Given the description of an element on the screen output the (x, y) to click on. 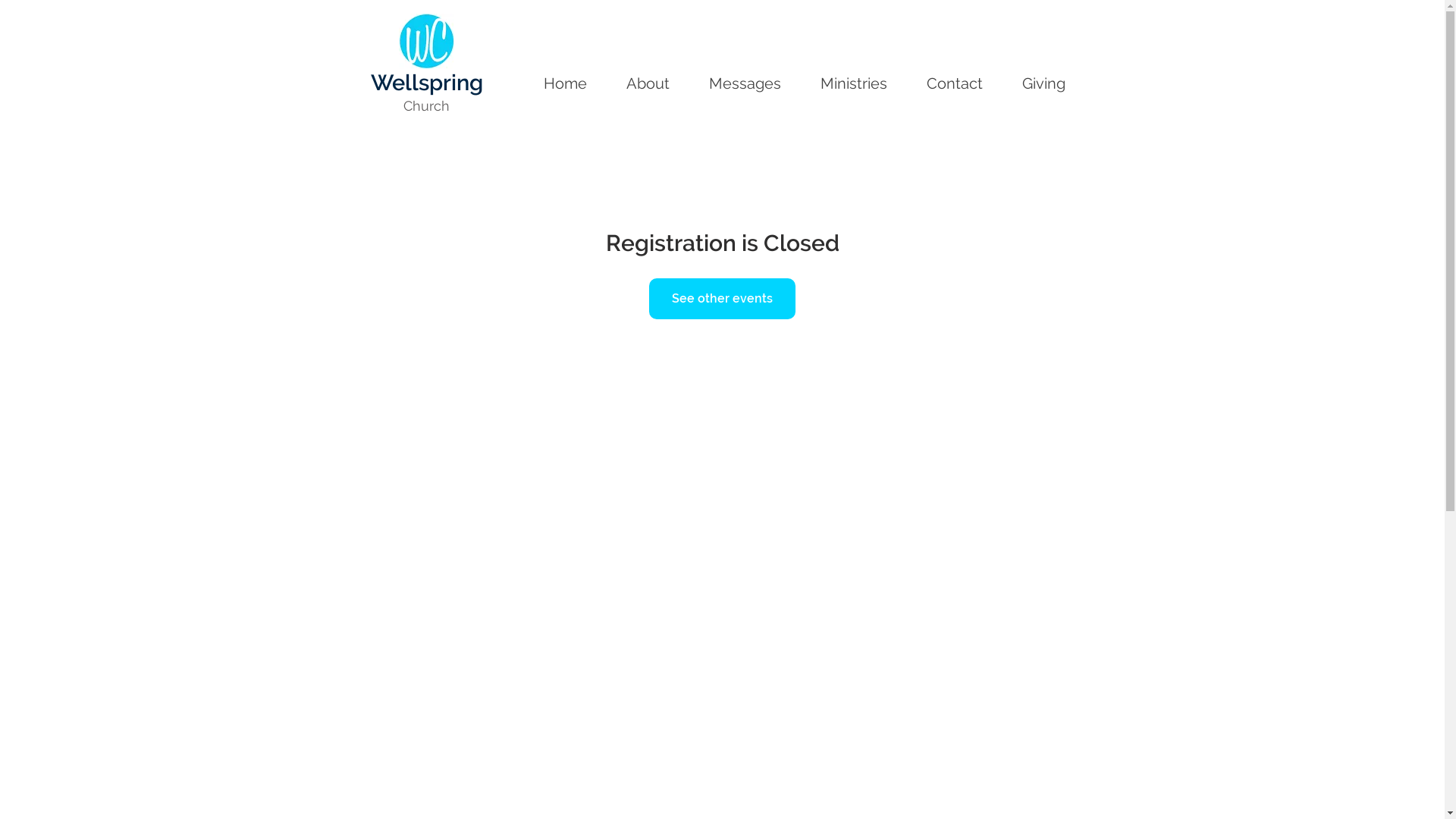
Messages Element type: text (744, 80)
About Element type: text (647, 80)
Contact Element type: text (954, 80)
Home Element type: text (564, 80)
Wellspring Element type: text (426, 82)
Giving Element type: text (1043, 80)
Ministries Element type: text (853, 80)
See other events Element type: text (722, 298)
